Given the description of an element on the screen output the (x, y) to click on. 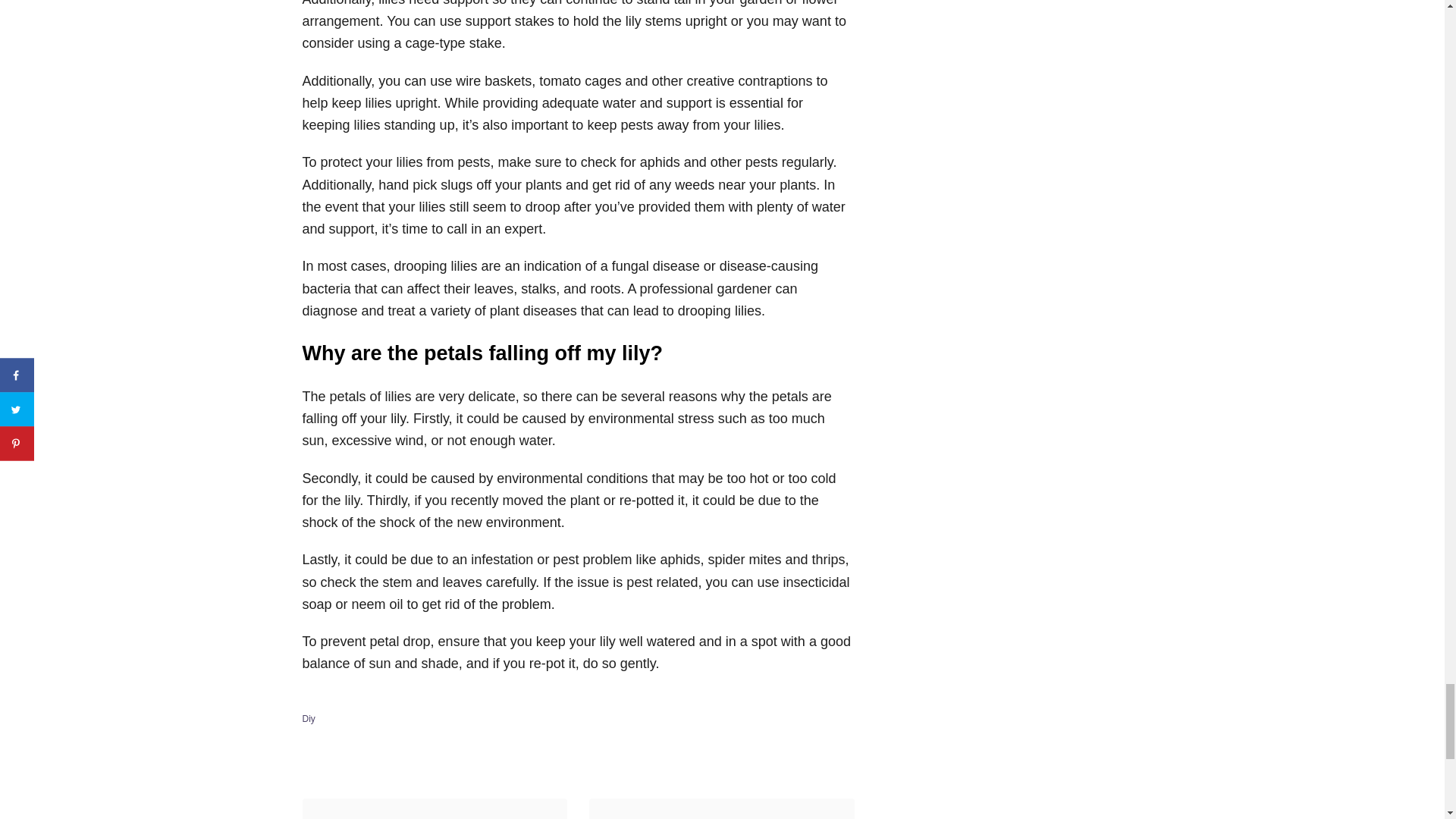
Are Syngonium pet friendly? (721, 816)
Diy (307, 718)
How long should Monstera roots be before repotting? (434, 816)
